Given the description of an element on the screen output the (x, y) to click on. 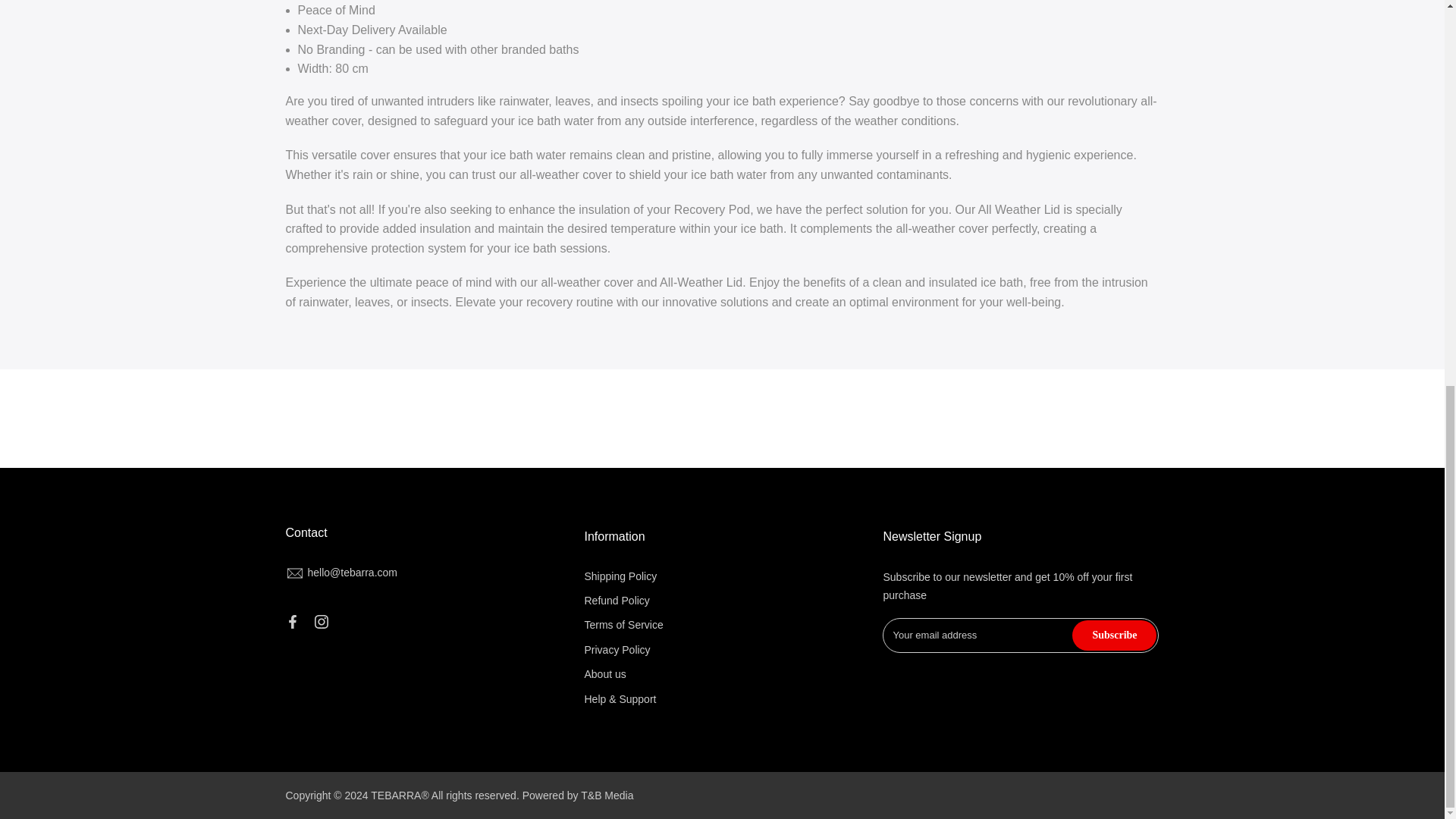
Privacy Policy (616, 649)
Shipping Policy (619, 576)
Subscribe (1113, 634)
Refund Policy (616, 600)
Terms of Service (622, 624)
About us (604, 674)
